Given the description of an element on the screen output the (x, y) to click on. 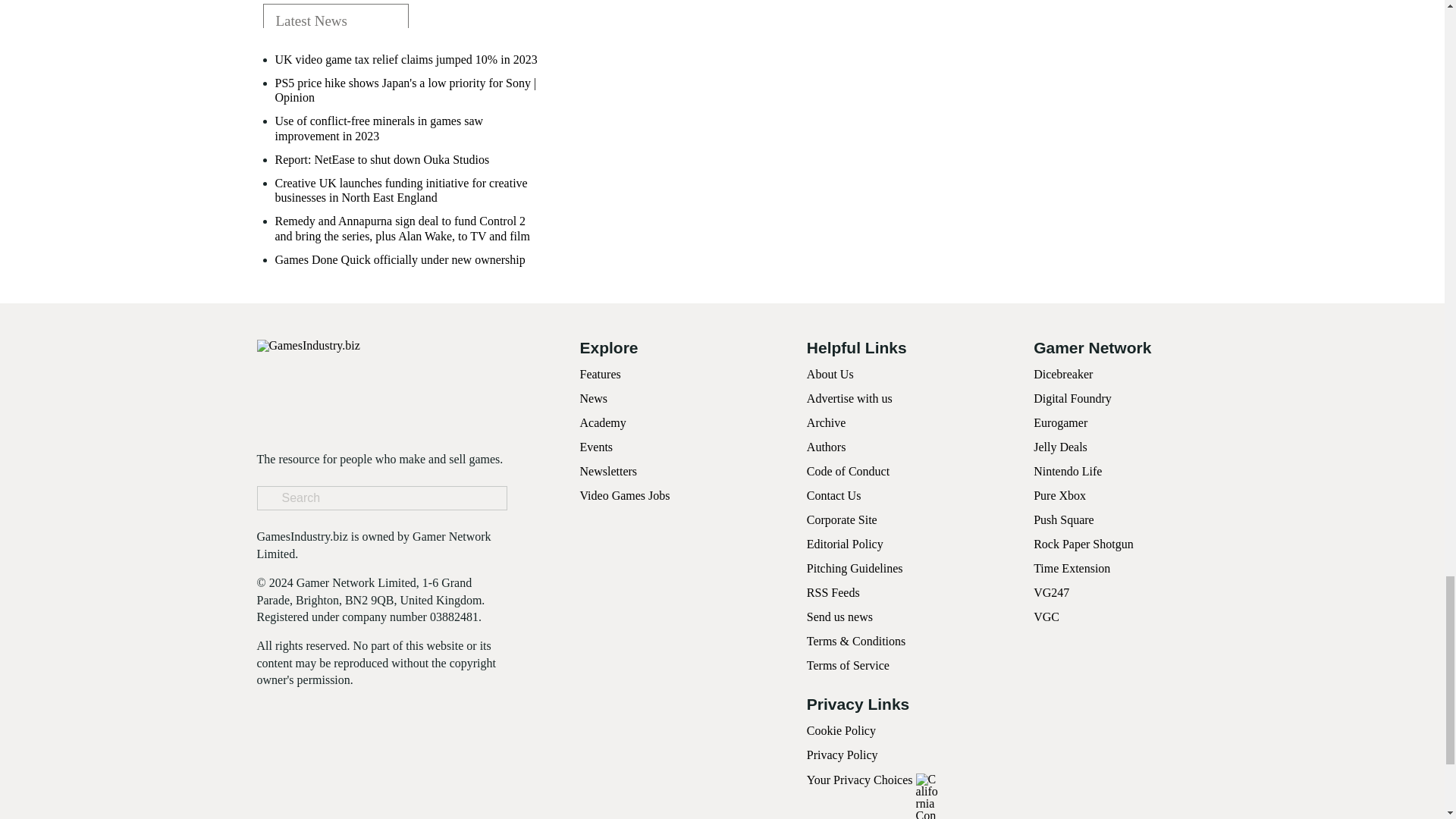
Events (595, 446)
Video Games Jobs (624, 495)
Features (599, 373)
Newsletters (608, 471)
News (593, 398)
About Us (829, 373)
Academy (602, 422)
